Given the description of an element on the screen output the (x, y) to click on. 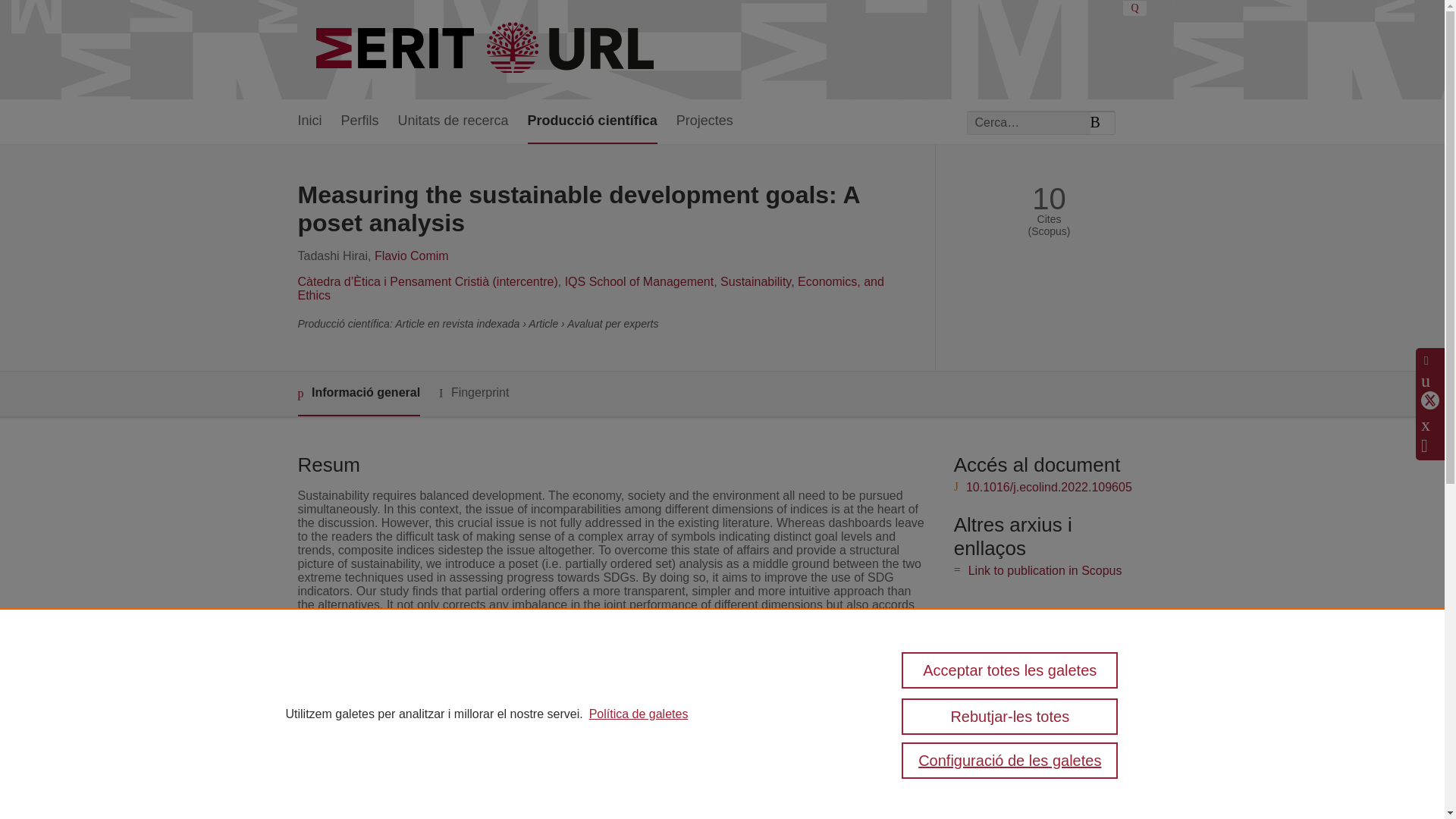
Projectes (705, 121)
IQS School of Management (639, 281)
Sustainability, Economics, and Ethics (590, 288)
Fingerprint (473, 392)
Universitat Ramon Llull Inici (487, 49)
Link to publication in Scopus (1045, 570)
Flavio Comim (411, 255)
Unitats de recerca (452, 121)
Ecological Indicators (565, 718)
